Given the description of an element on the screen output the (x, y) to click on. 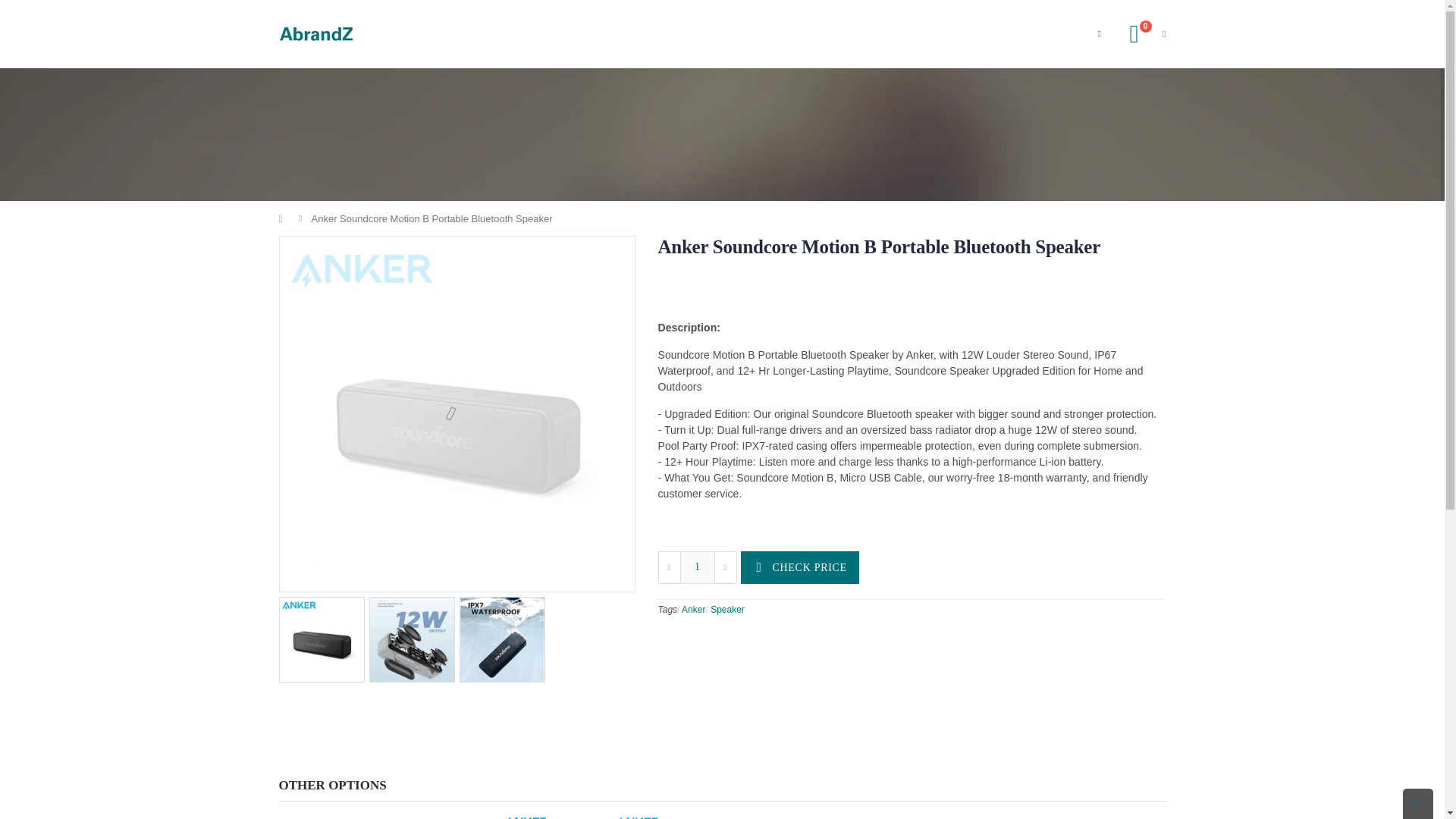
Anker Soundcore Motion B Portable Bluetooth Speaker (879, 246)
Back to the frontpage (284, 218)
0 (1141, 33)
Home (284, 218)
Speaker (727, 609)
1 (696, 567)
CHECK PRICE (799, 567)
Anker (692, 609)
